Given the description of an element on the screen output the (x, y) to click on. 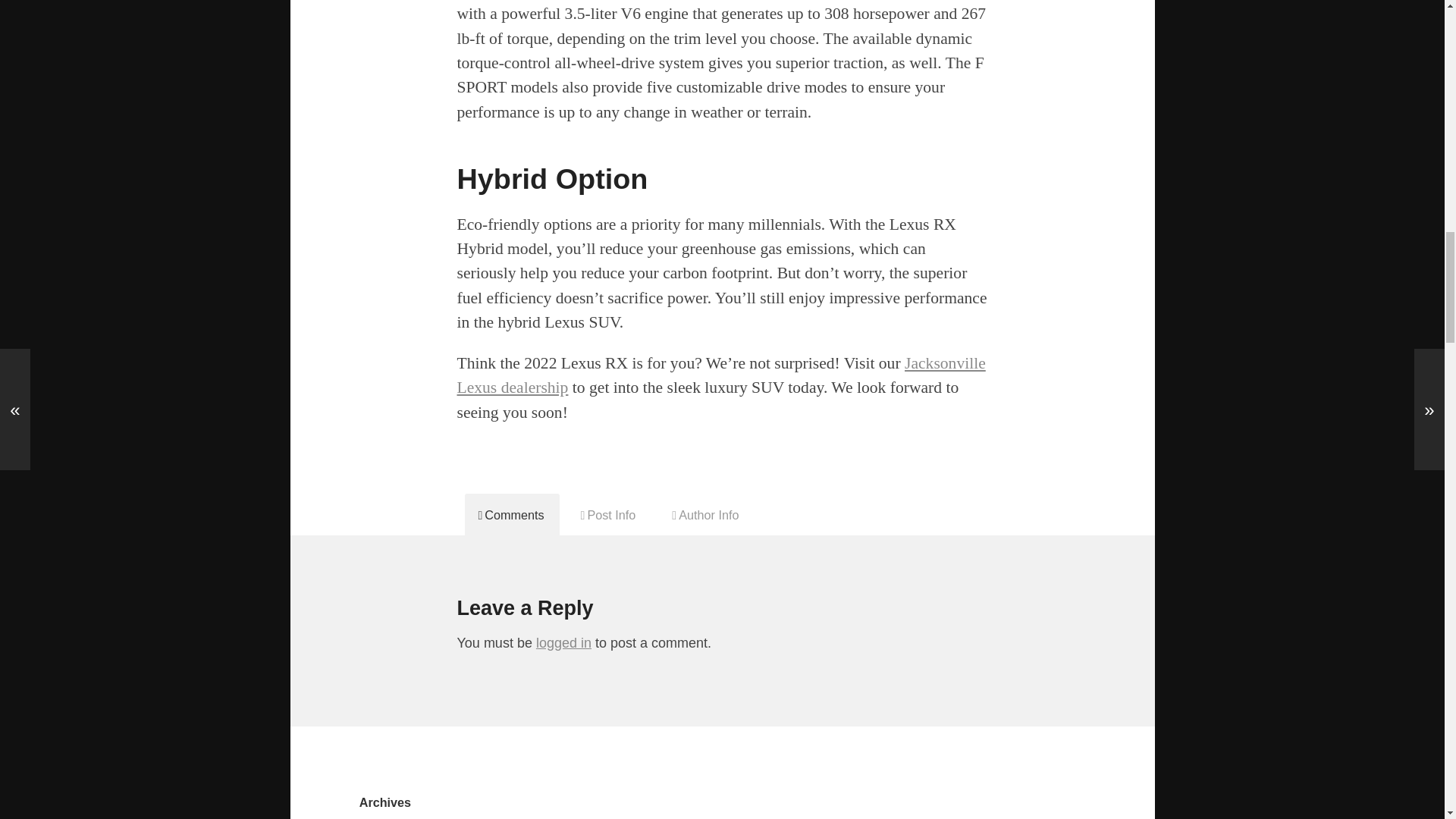
Author Info (706, 513)
Post Info (608, 513)
logged in (563, 642)
Comments (511, 513)
Jacksonville Lexus dealership (721, 374)
